Given the description of an element on the screen output the (x, y) to click on. 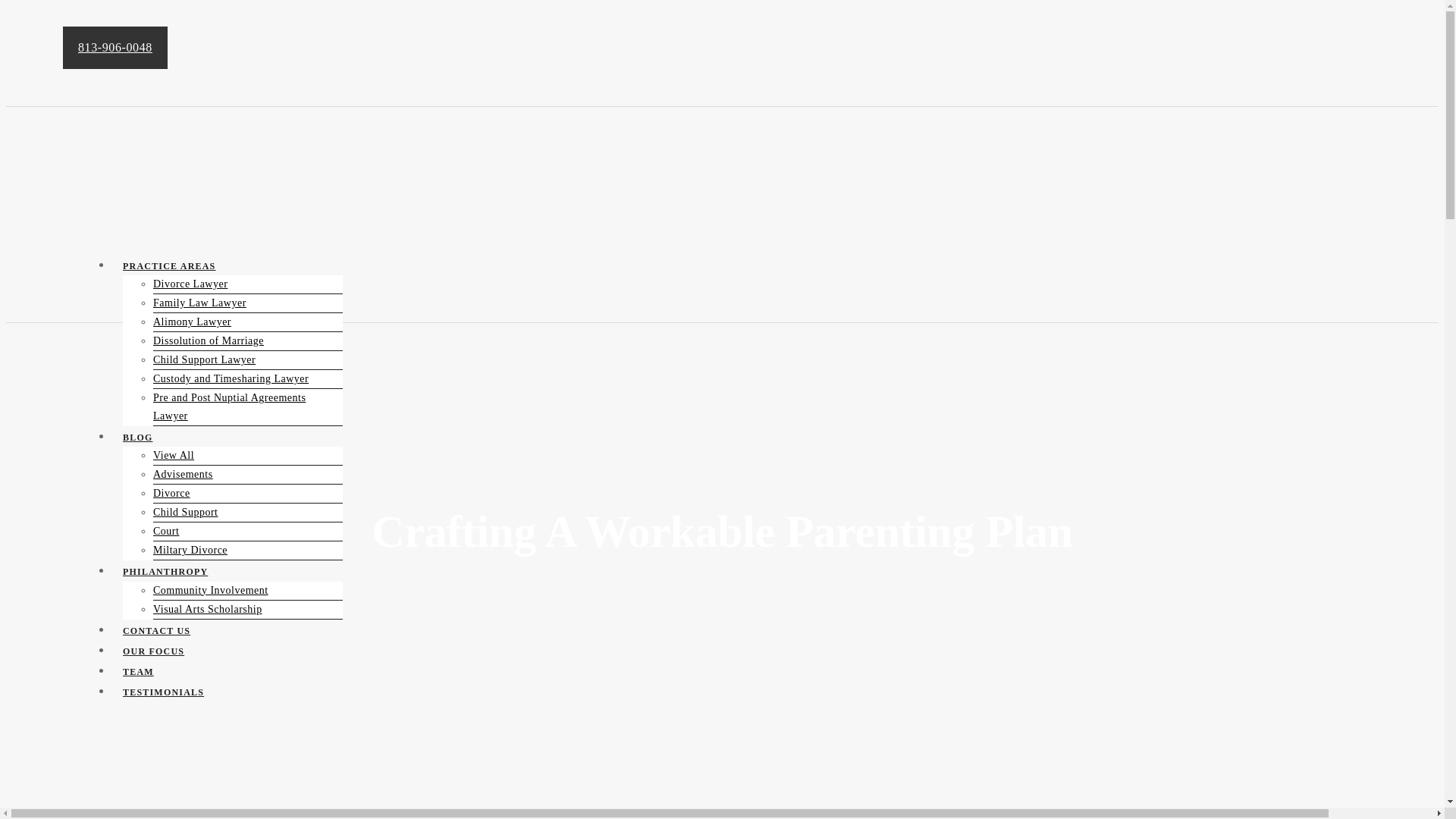
Advisements (182, 474)
TESTIMONIALS (162, 692)
BLOG (137, 437)
Pre and Post Nuptial Agreements Lawyer (228, 406)
Community Involvement (209, 589)
813-906-0048 (115, 47)
Miltary Divorce (189, 549)
Dissolution of Marriage (207, 340)
Court (165, 530)
Alimony Lawyer (191, 322)
CONTACT US (156, 630)
Custody and Timesharing Lawyer (230, 378)
Divorce (171, 493)
Family Law Lawyer (199, 302)
PRACTICE AREAS (168, 266)
